Given the description of an element on the screen output the (x, y) to click on. 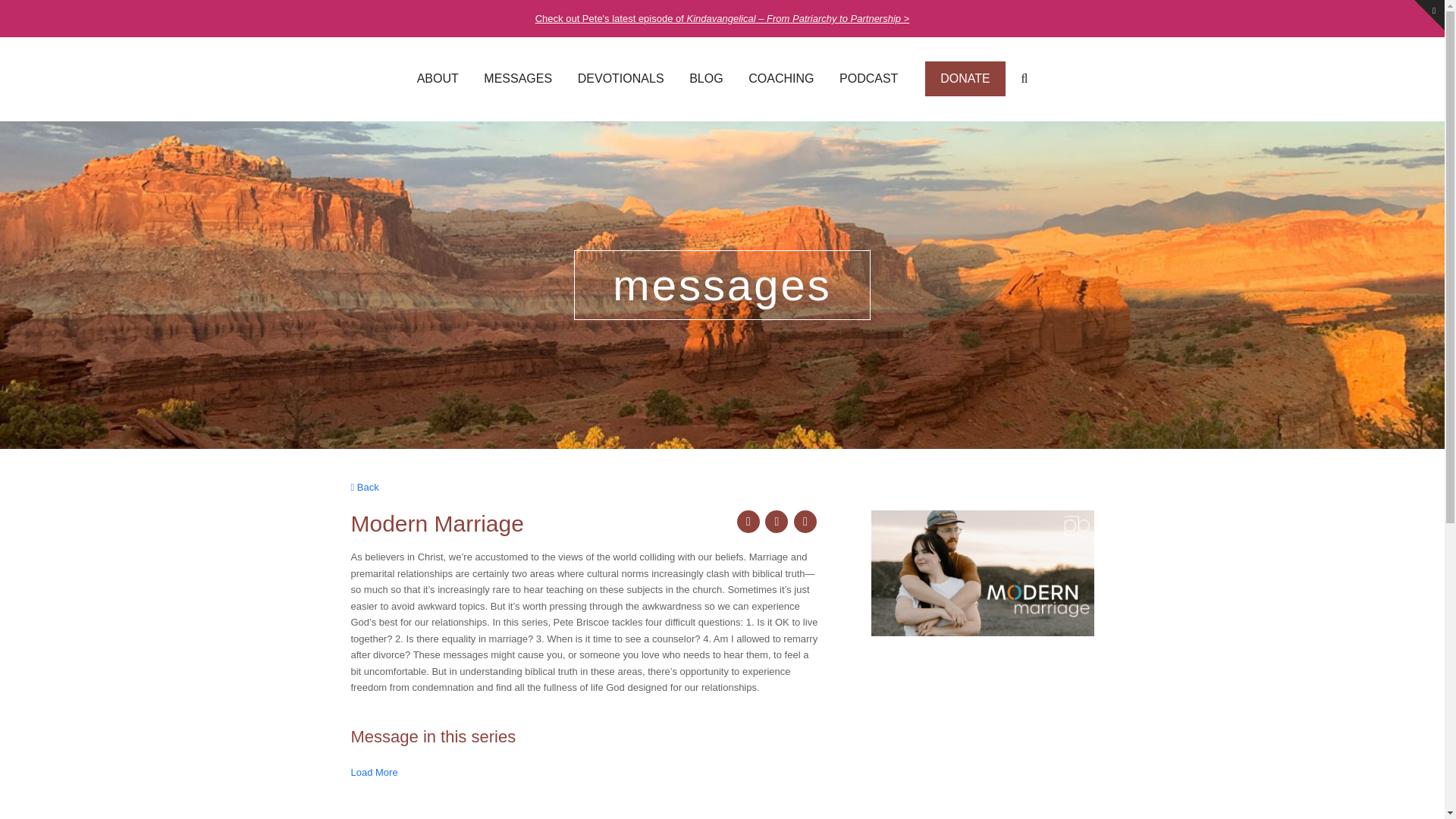
twitter (748, 521)
DEVOTIONALS (620, 79)
DONATE (959, 79)
facebook (776, 521)
MESSAGES (517, 79)
BLOG (706, 79)
PODCAST (869, 79)
Load More (375, 773)
email (804, 521)
COACHING (781, 79)
